Given the description of an element on the screen output the (x, y) to click on. 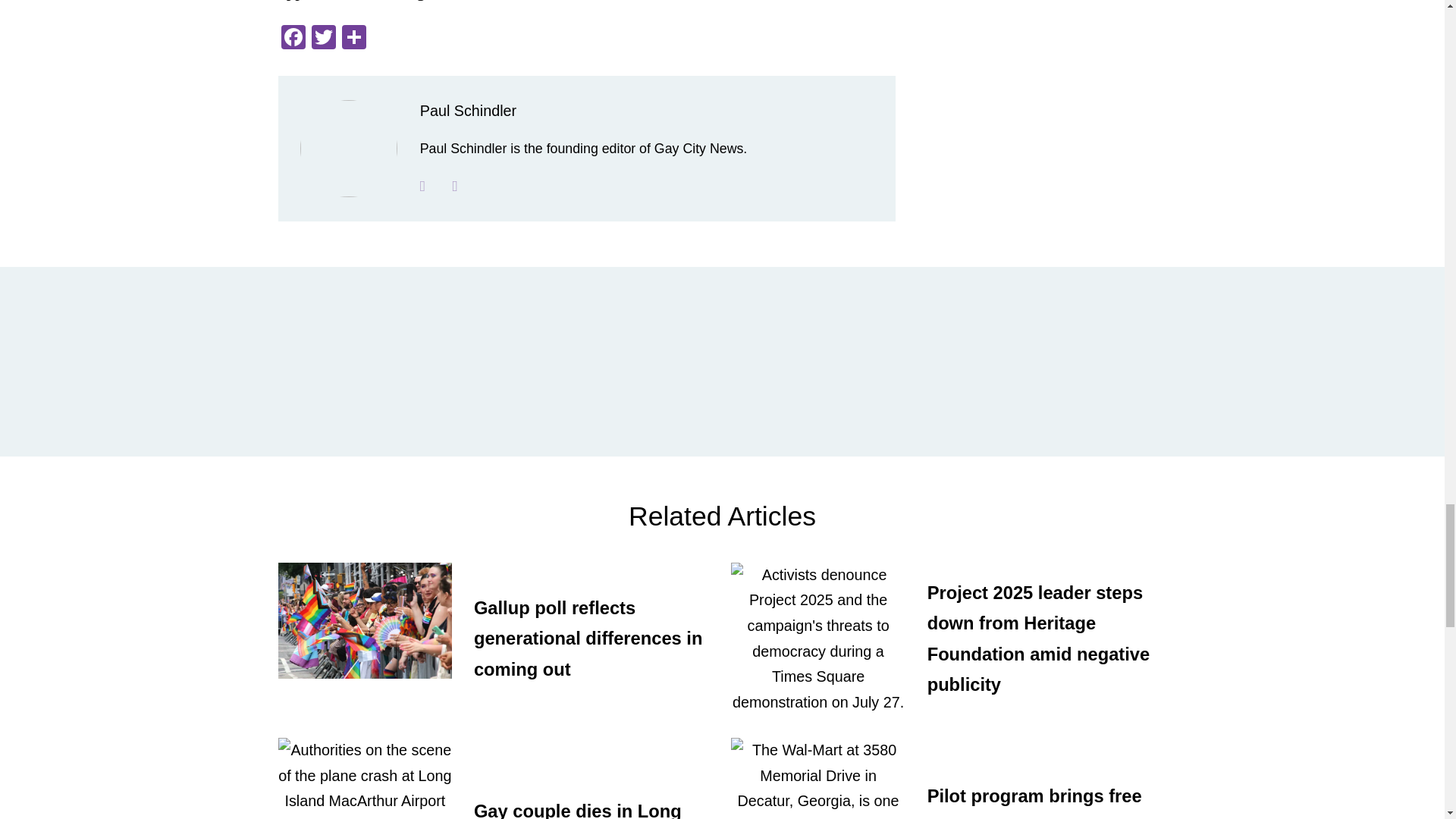
Twitter (322, 39)
Facebook (292, 39)
